Given the description of an element on the screen output the (x, y) to click on. 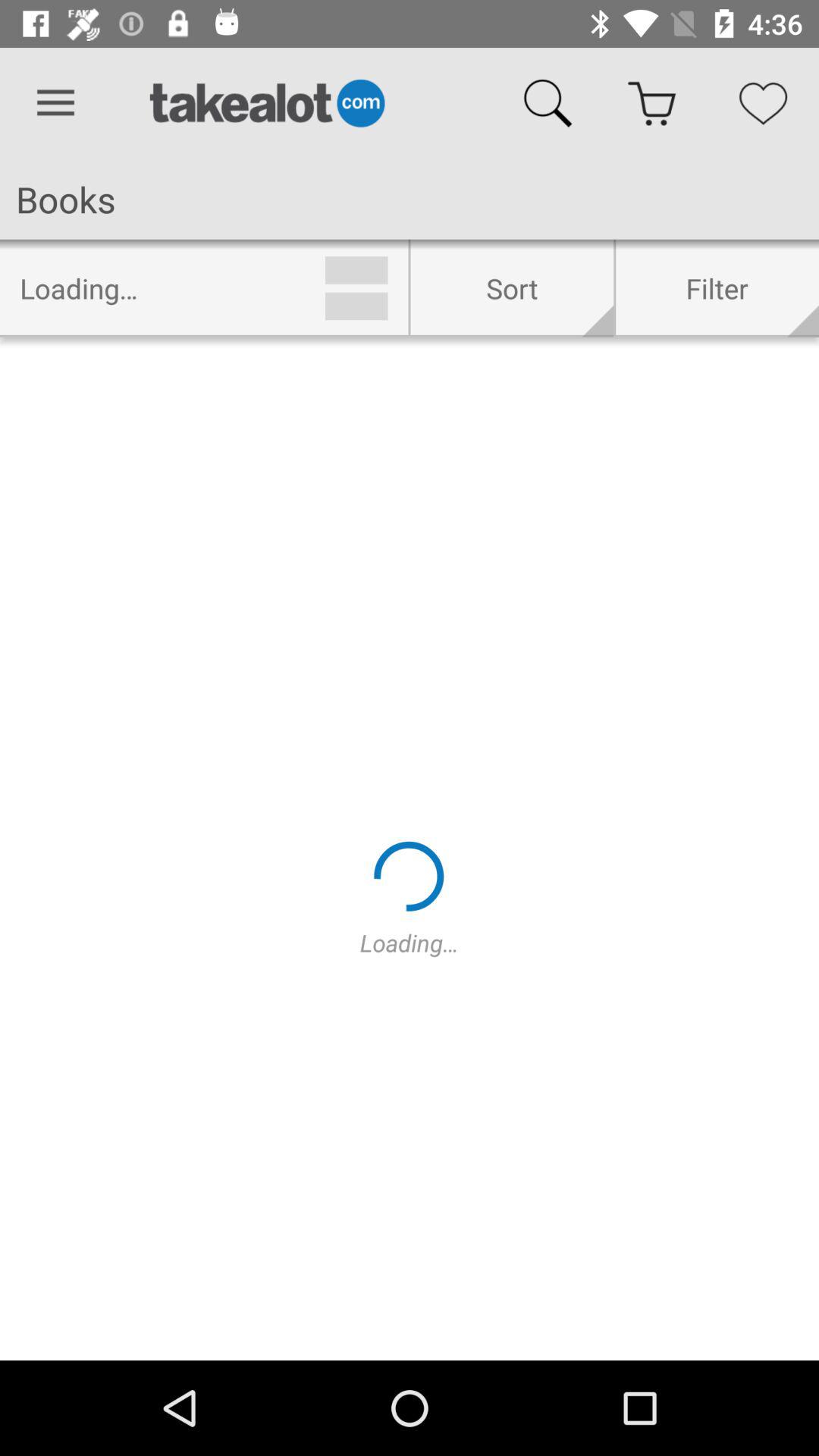
turn off the icon above books (55, 103)
